Given the description of an element on the screen output the (x, y) to click on. 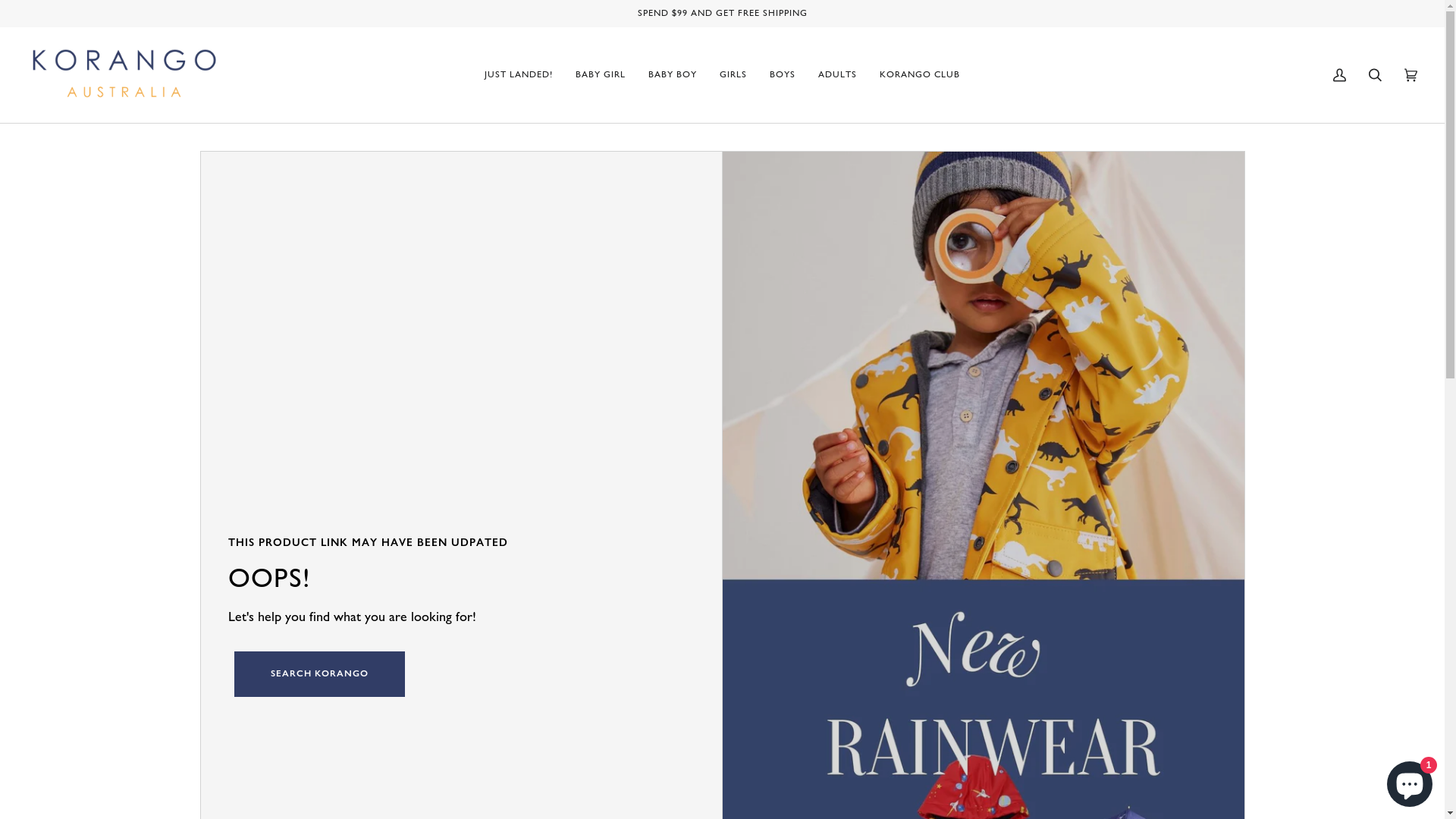
BABY BOY Element type: text (672, 74)
CART Element type: text (1410, 74)
KORANGO CLUB Element type: text (919, 74)
GIRLS Element type: text (733, 74)
MY ACCOUNT Element type: text (1339, 74)
Shopify online store chat Element type: hover (1409, 780)
SEARCH Element type: text (1375, 74)
ADULTS Element type: text (837, 74)
BOYS Element type: text (782, 74)
BABY GIRL Element type: text (600, 74)
JUST LANDED! Element type: text (518, 74)
SEARCH KORANGO Element type: text (318, 673)
